Given the description of an element on the screen output the (x, y) to click on. 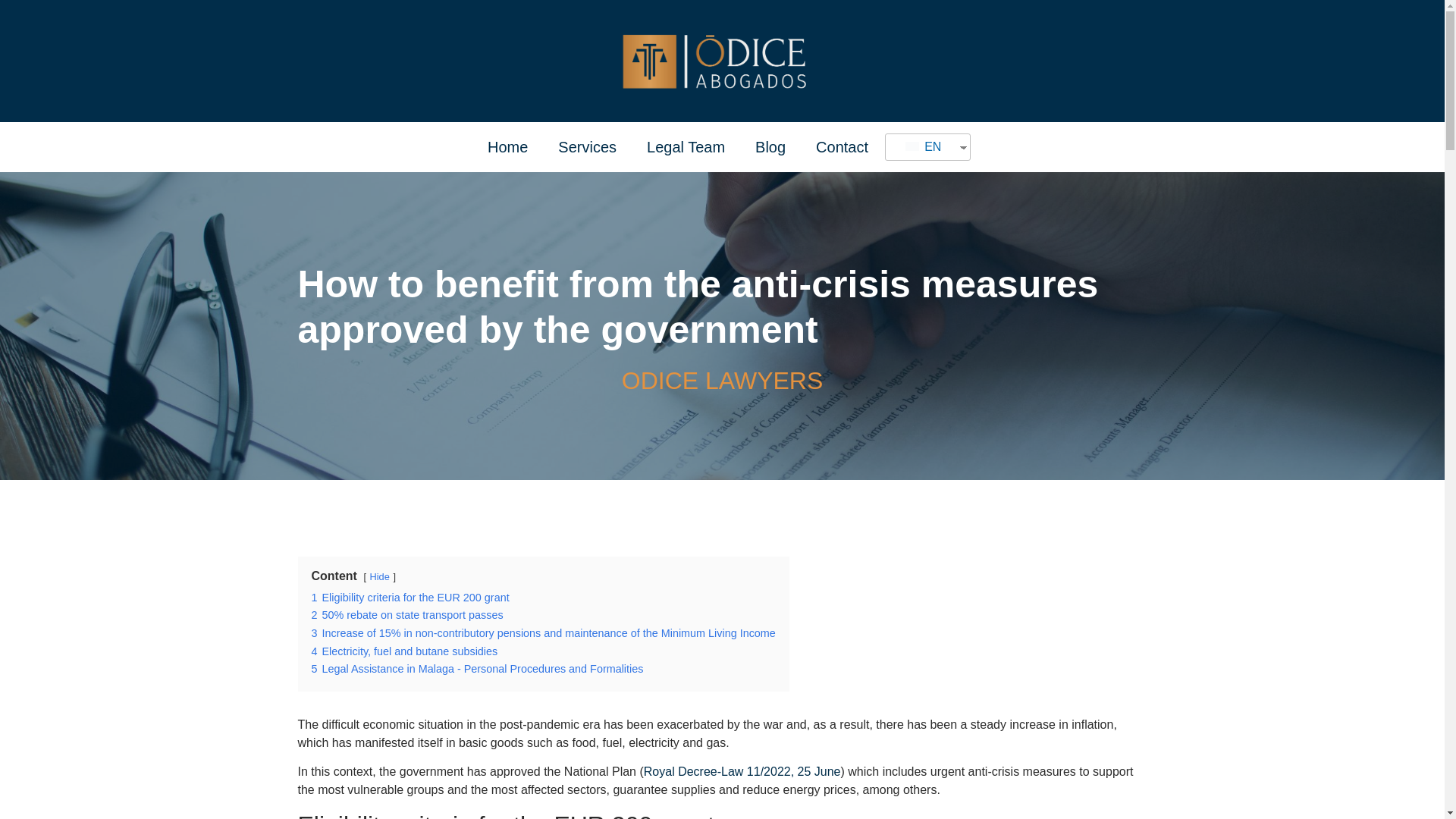
Legal Team (685, 146)
1 Eligibility criteria for the EUR 200 grant (409, 597)
4 Electricity, fuel and butane subsidies (404, 651)
Home (507, 146)
Blog (769, 146)
Hide (379, 576)
Contact (841, 146)
EN (922, 147)
Services (587, 146)
